Given the description of an element on the screen output the (x, y) to click on. 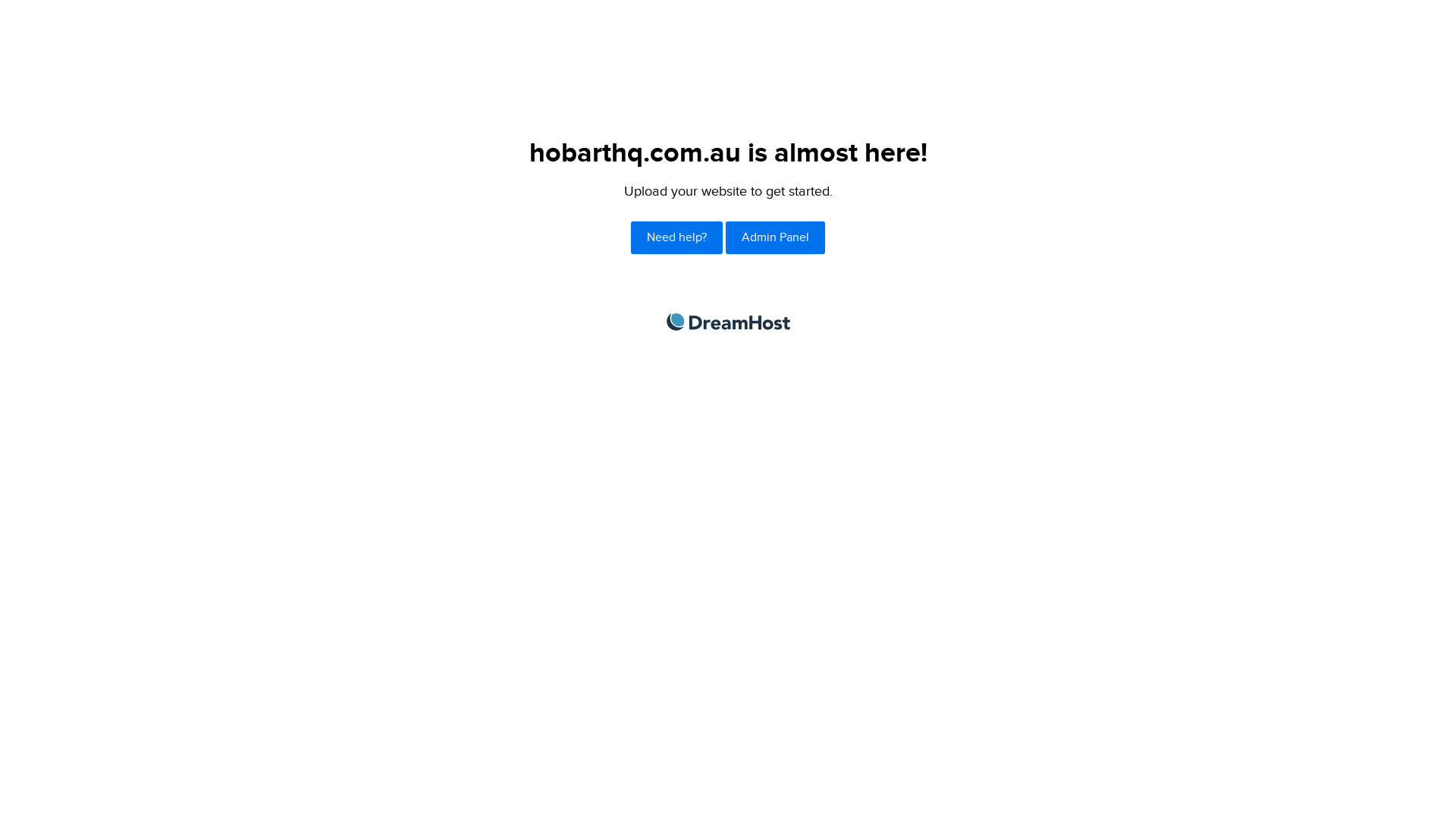
DreamHost Element type: text (727, 320)
Admin Panel Element type: text (775, 237)
Need help? Element type: text (676, 237)
